Given the description of an element on the screen output the (x, y) to click on. 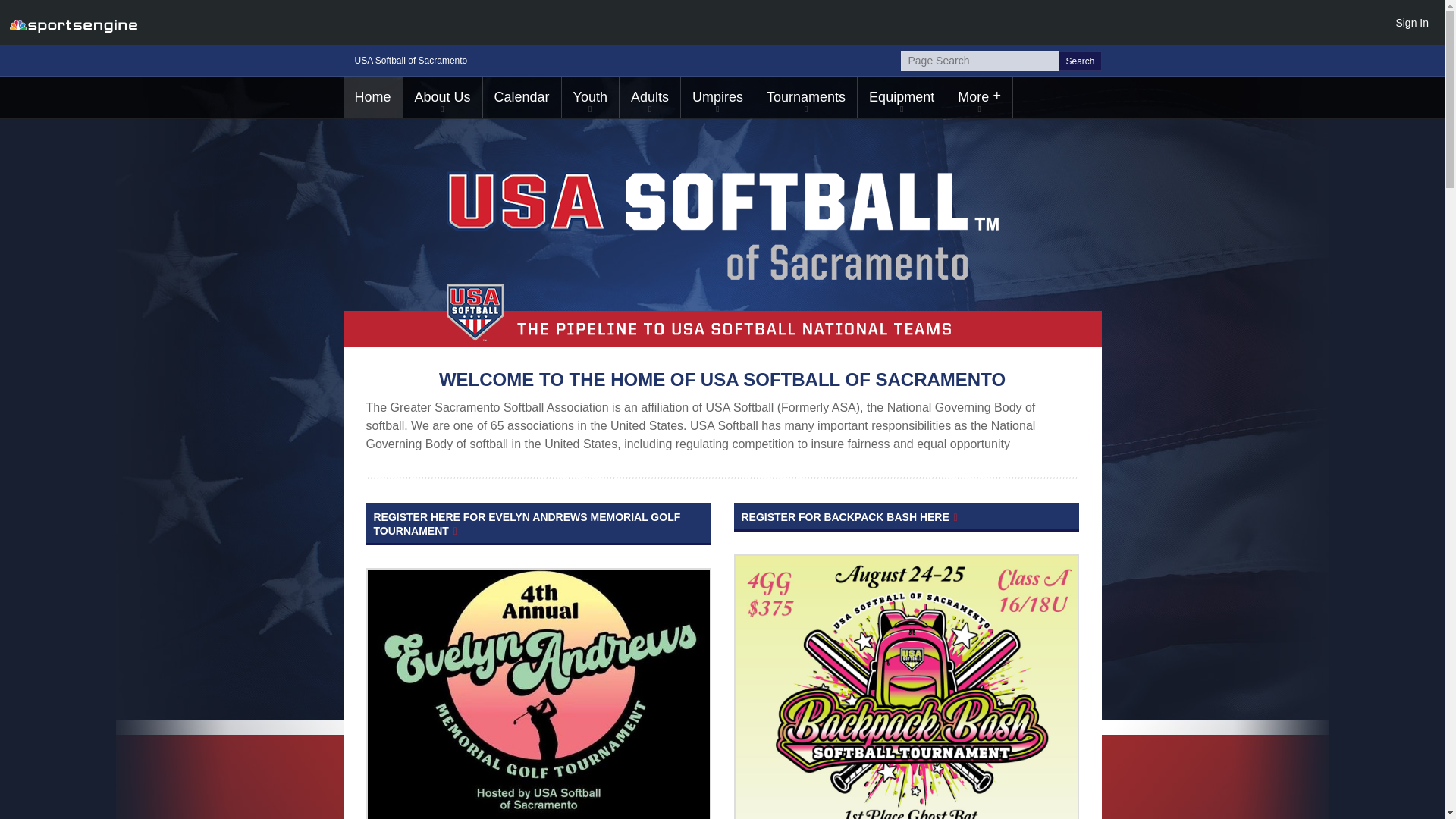
click to go to 'About Us' (442, 96)
Sign In (1411, 22)
Tournaments (806, 96)
click to go to 'Equipment' (900, 96)
click to go to 'Calendar' (521, 96)
Calendar (521, 96)
SportsEngine (73, 22)
click to go to 'Home' (371, 96)
More (978, 96)
Adults (649, 96)
